Given the description of an element on the screen output the (x, y) to click on. 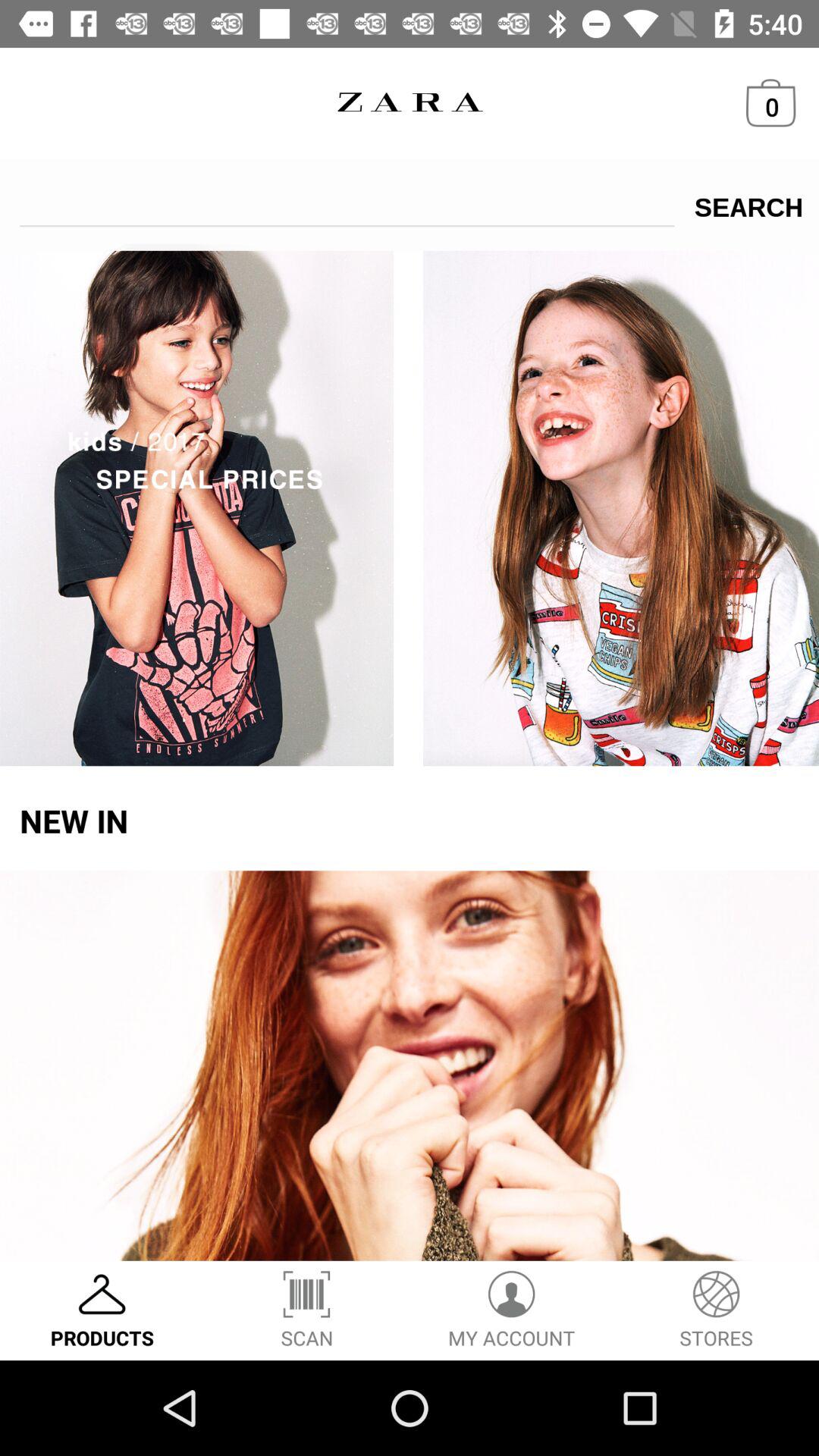
enter search terms here (346, 201)
